Given the description of an element on the screen output the (x, y) to click on. 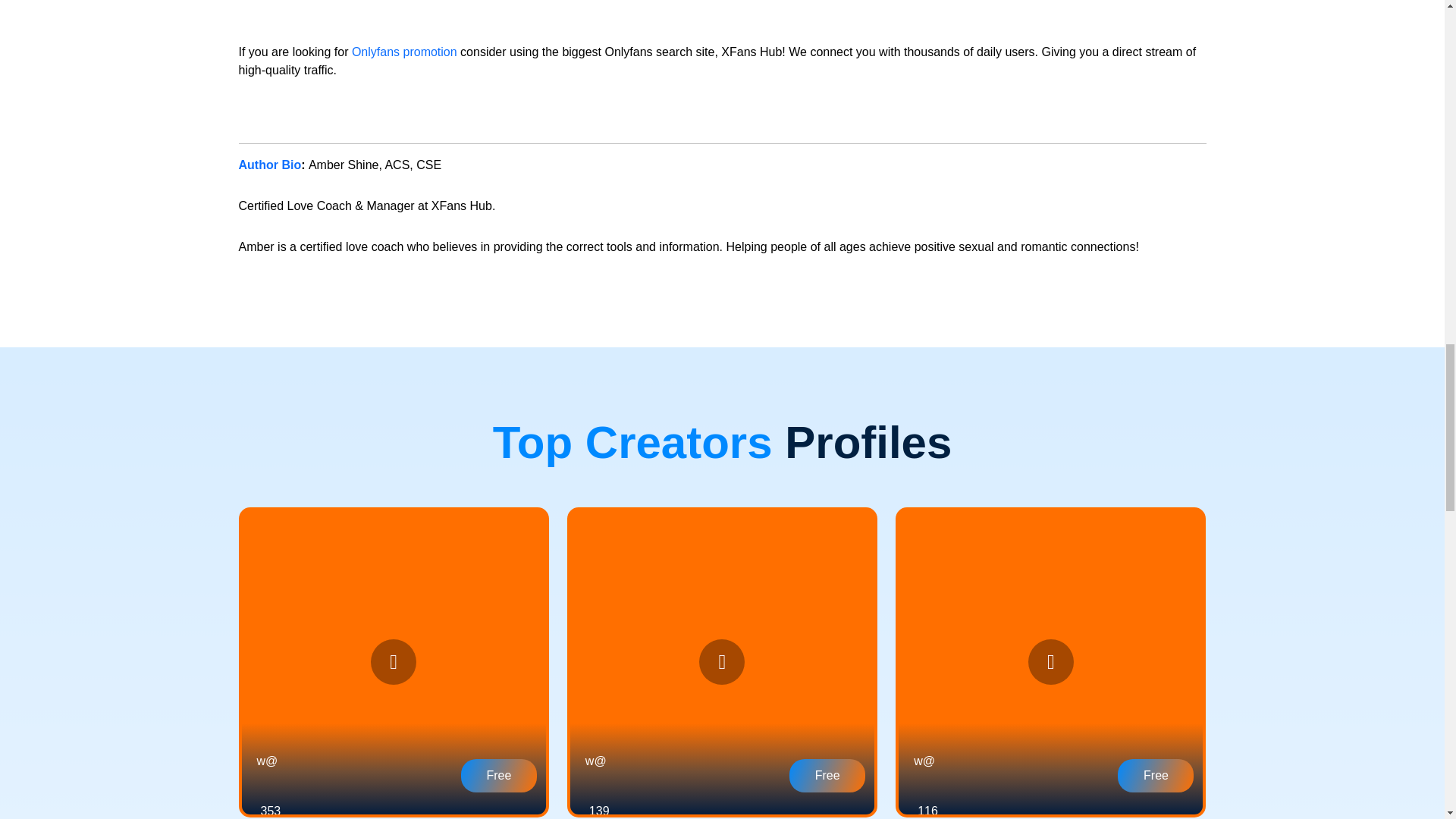
Free (826, 775)
Free (1155, 775)
Free (499, 775)
Author Bio (269, 164)
Onlyfans promotion (404, 51)
